Given the description of an element on the screen output the (x, y) to click on. 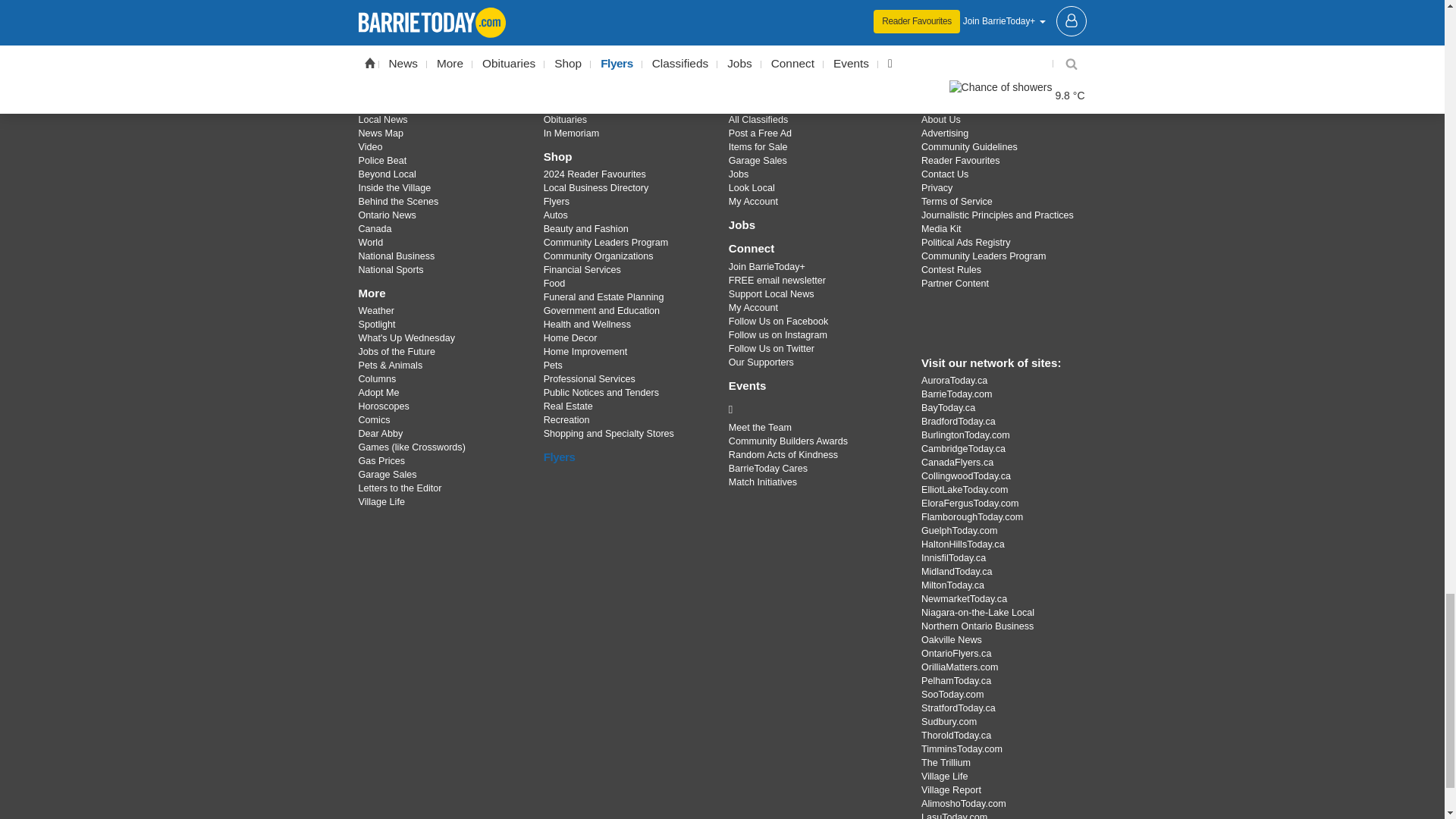
Instagram (760, 48)
Facebook (683, 48)
X (721, 48)
BarrieToday Cares (813, 409)
